Given the description of an element on the screen output the (x, y) to click on. 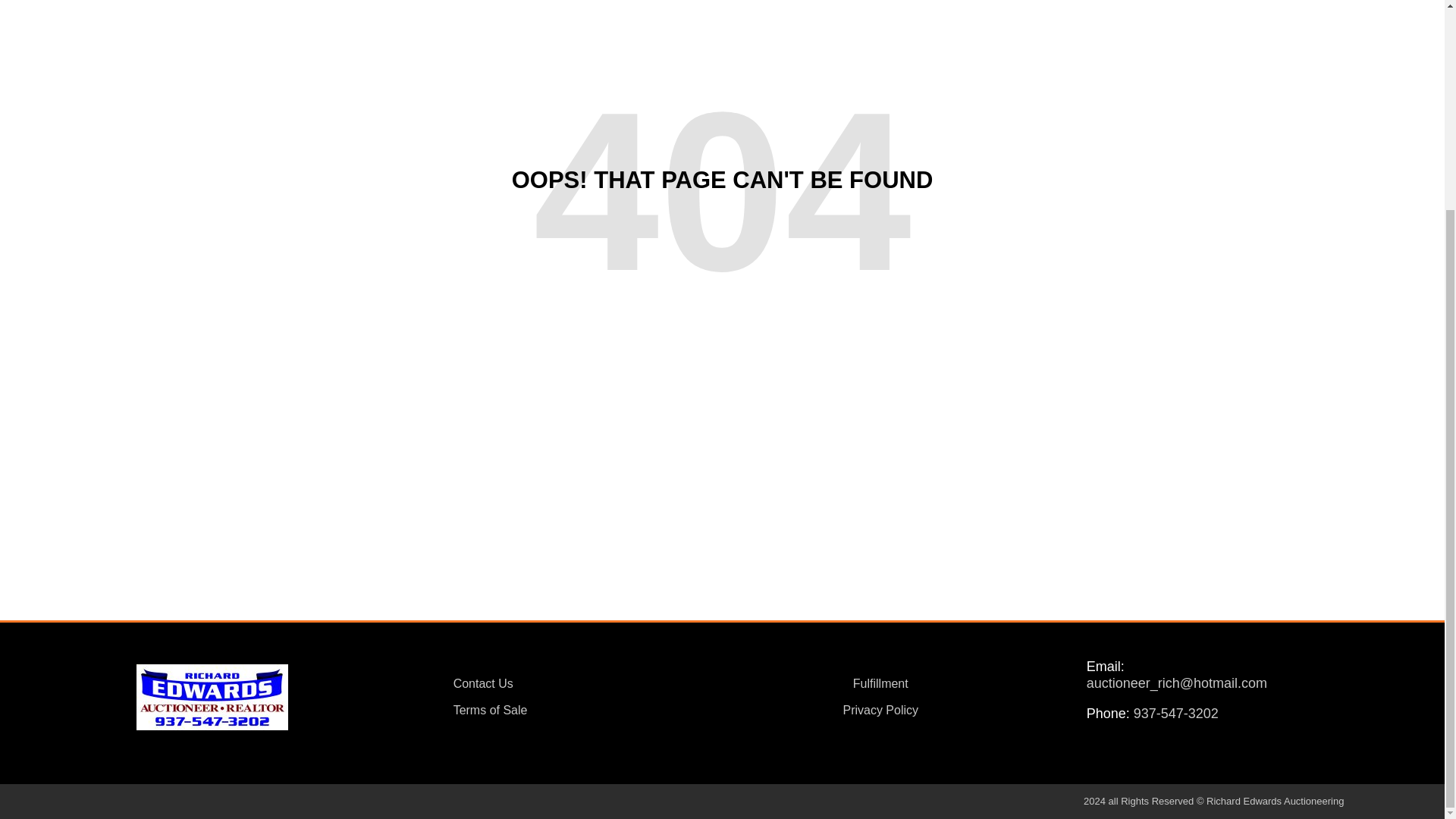
937-547-3202 (1176, 713)
Terms of Sale (563, 710)
Contact Us (563, 683)
Fulfillment (880, 683)
Privacy Policy (880, 710)
